Given the description of an element on the screen output the (x, y) to click on. 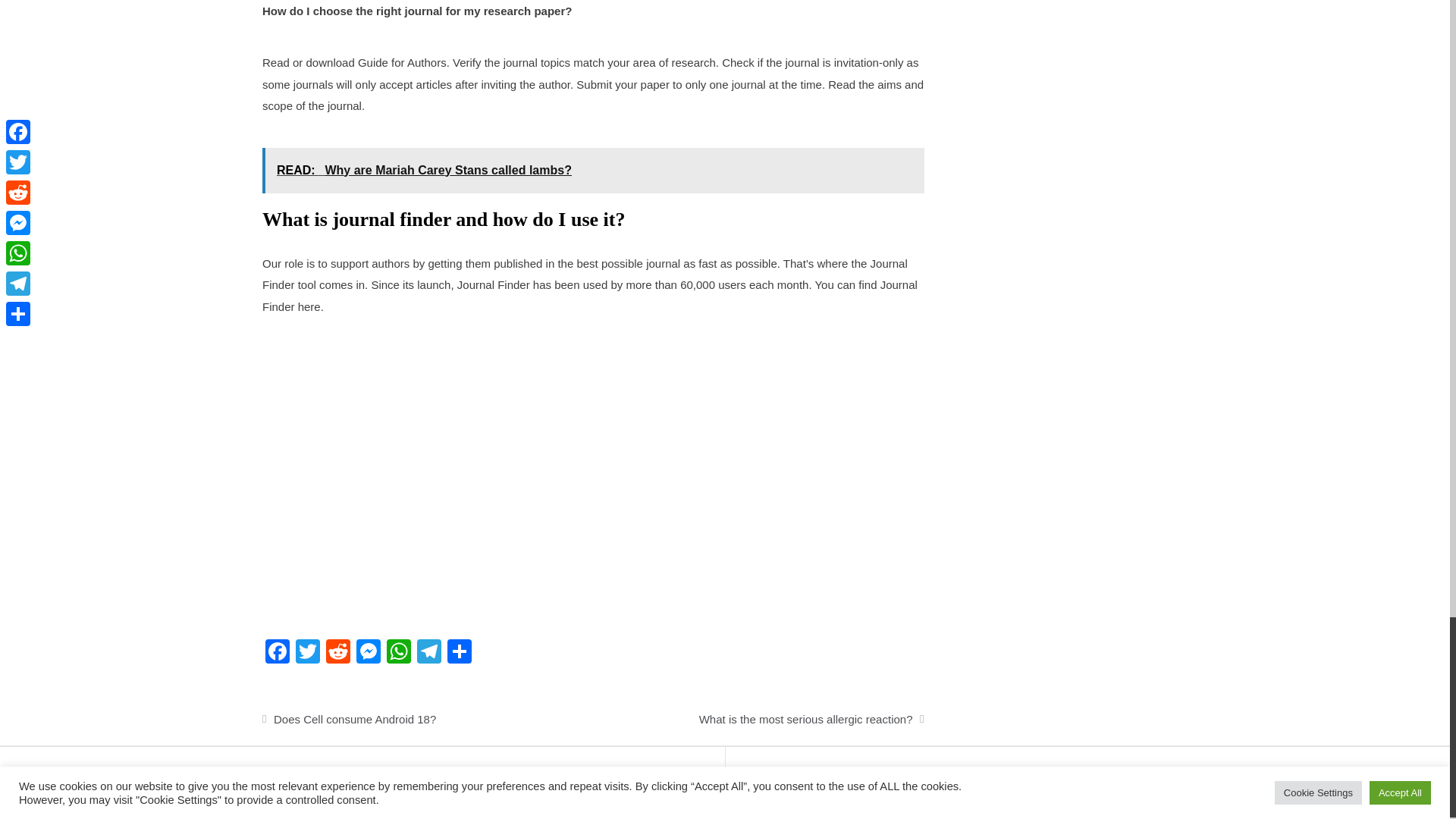
Reddit (338, 653)
Messenger (368, 653)
Twitter (307, 653)
READ:   Why are Mariah Carey Stans called lambs? (593, 170)
Facebook (277, 653)
WhatsApp (398, 653)
Telegram (428, 653)
Facebook (277, 653)
Twitter (307, 653)
